Given the description of an element on the screen output the (x, y) to click on. 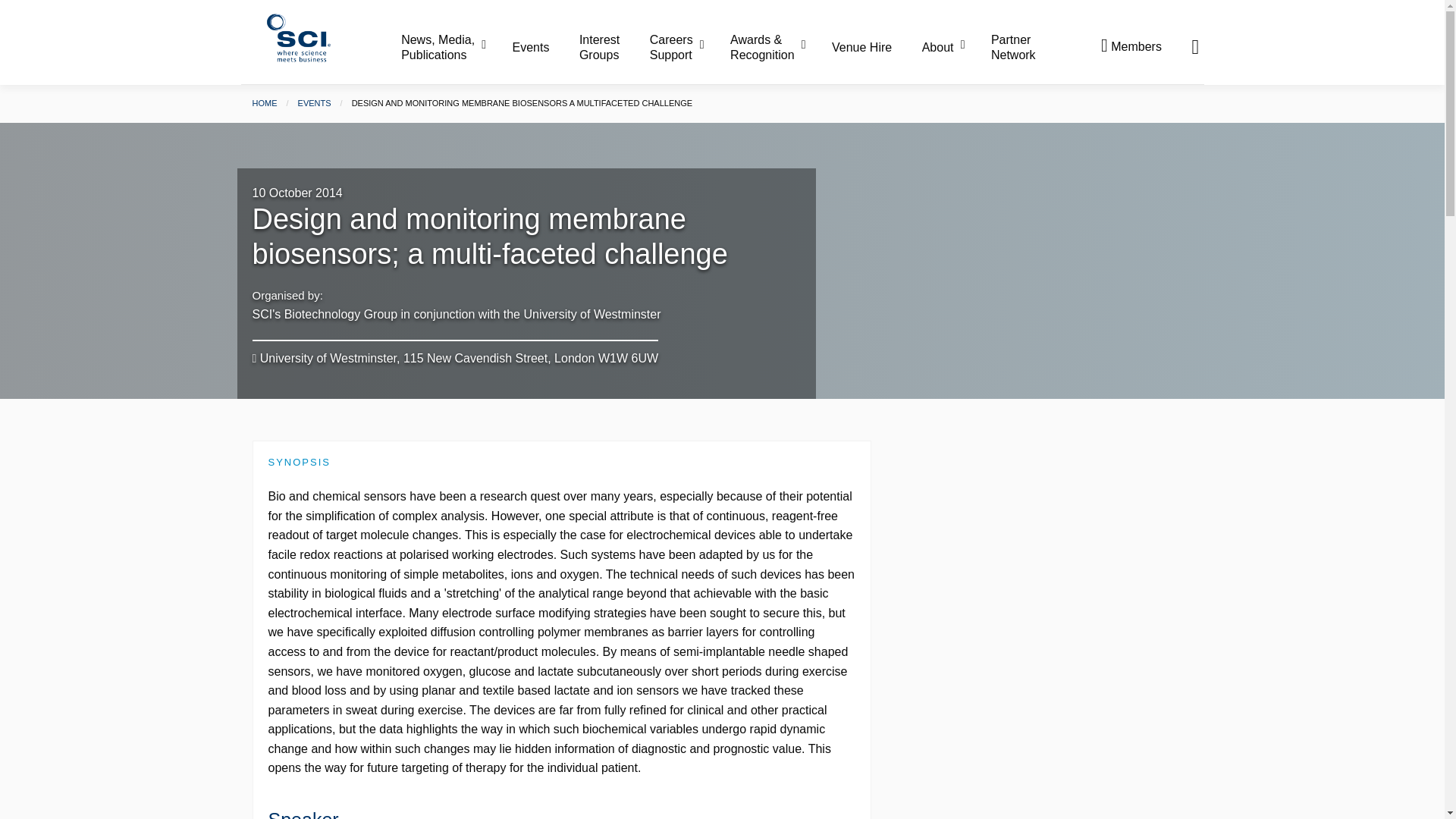
News, Media, Publications (454, 47)
Careers Support (687, 47)
Events (544, 47)
Interest Groups (612, 47)
Venue Hire (874, 47)
About (954, 47)
Partner Network (1013, 47)
